Given the description of an element on the screen output the (x, y) to click on. 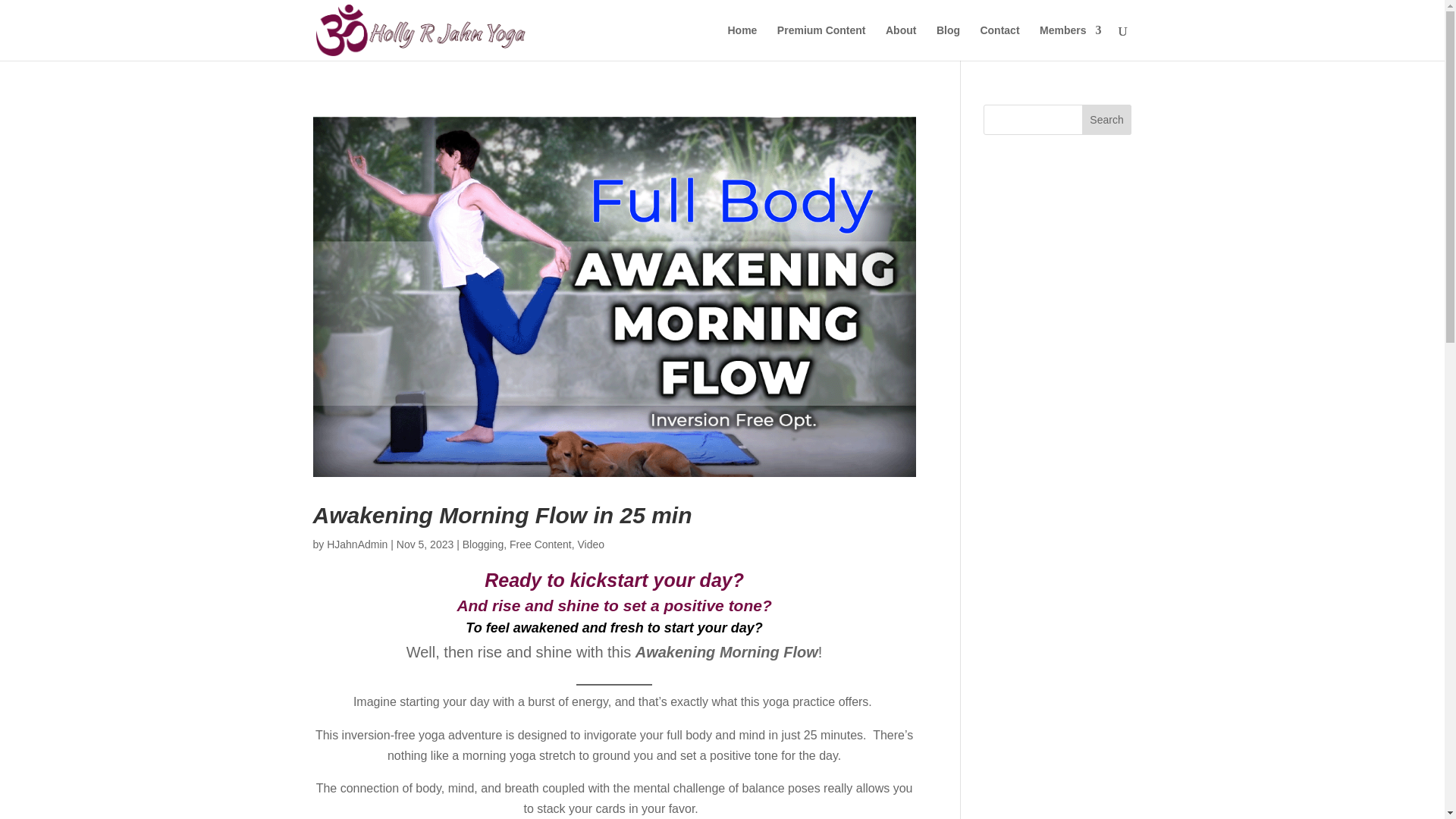
Premium Content (821, 42)
Video (590, 544)
Free Content (540, 544)
Awakening Morning Flow in 25 min (502, 514)
Members (1069, 42)
HJahnAdmin (356, 544)
Search (1106, 119)
Contact (999, 42)
Posts by HJahnAdmin (356, 544)
Search (1106, 119)
